Given the description of an element on the screen output the (x, y) to click on. 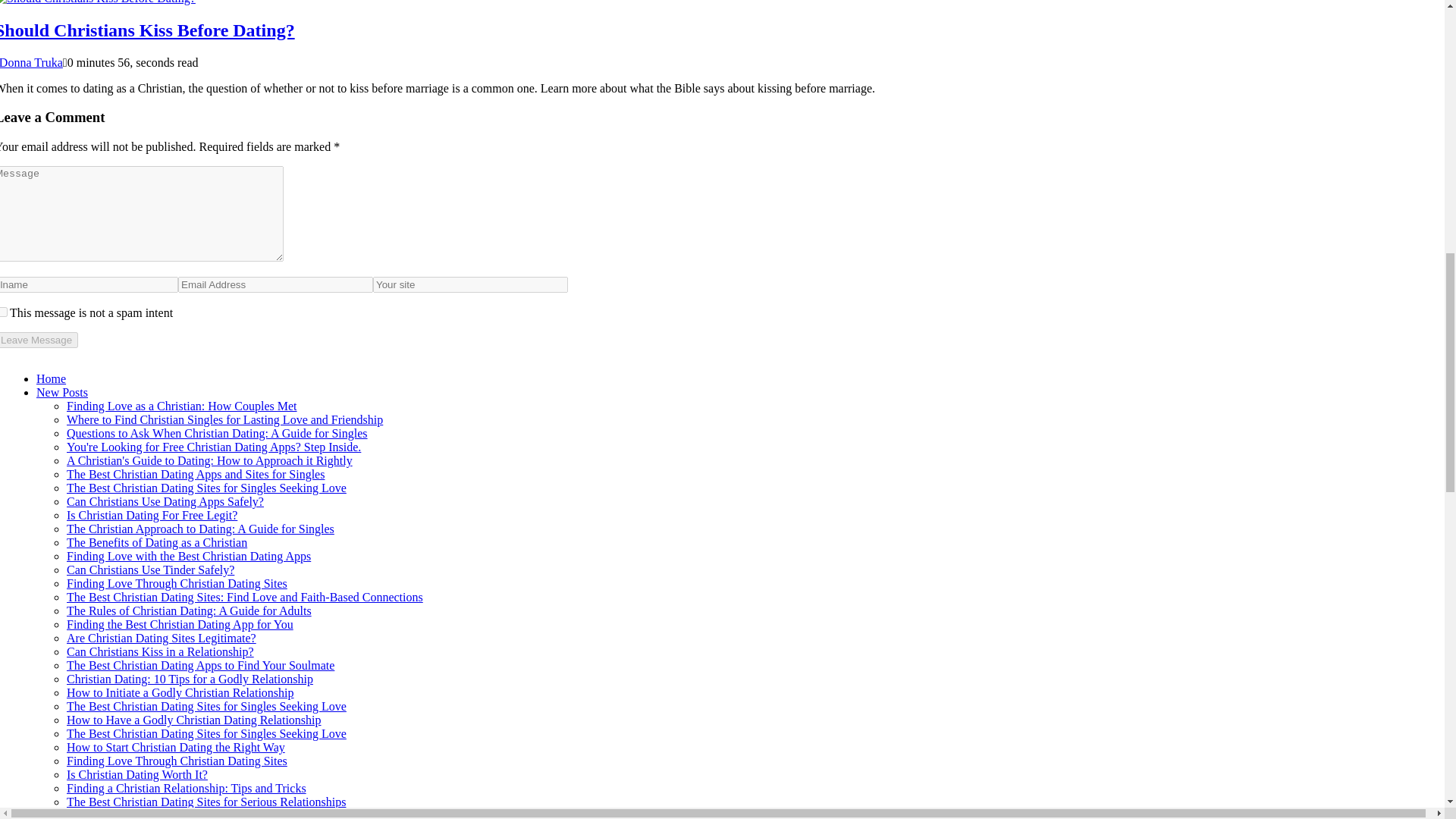
Posts by Donna Truka (31, 62)
Finding Love as a Christian: How Couples Met (181, 405)
Can Christians Use Tinder Safely? (150, 569)
The Benefits of Dating as a Christian (156, 542)
Finding Love with the Best Christian Dating Apps (188, 555)
Questions to Ask When Christian Dating: A Guide for Singles (217, 432)
Home (50, 378)
Is Christian Dating For Free Legit? (151, 514)
New Posts (61, 391)
Leave Message (39, 340)
Finding Love Through Christian Dating Sites (176, 583)
A Christian's Guide to Dating: How to Approach it Rightly (209, 460)
Donna Truka (31, 62)
